Given the description of an element on the screen output the (x, y) to click on. 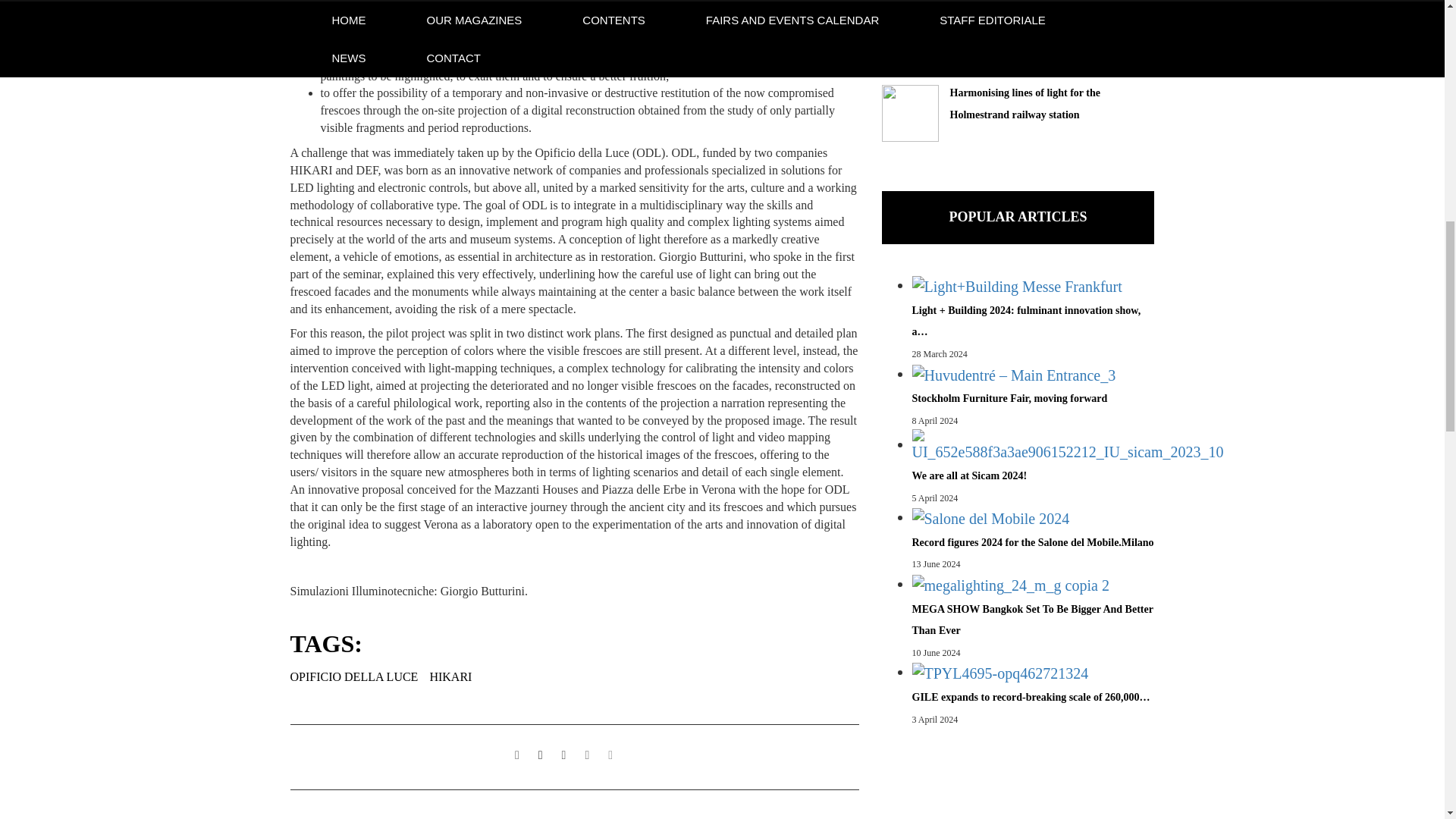
Stockholm Furniture Fair, moving forward (1013, 375)
MEGA SHOW Bangkok Set To Be Bigger And Better Than Ever (1009, 585)
Record figures 2024 for the Salone del Mobile.Milano (989, 518)
We are all at Sicam 2024! (1067, 446)
